Given the description of an element on the screen output the (x, y) to click on. 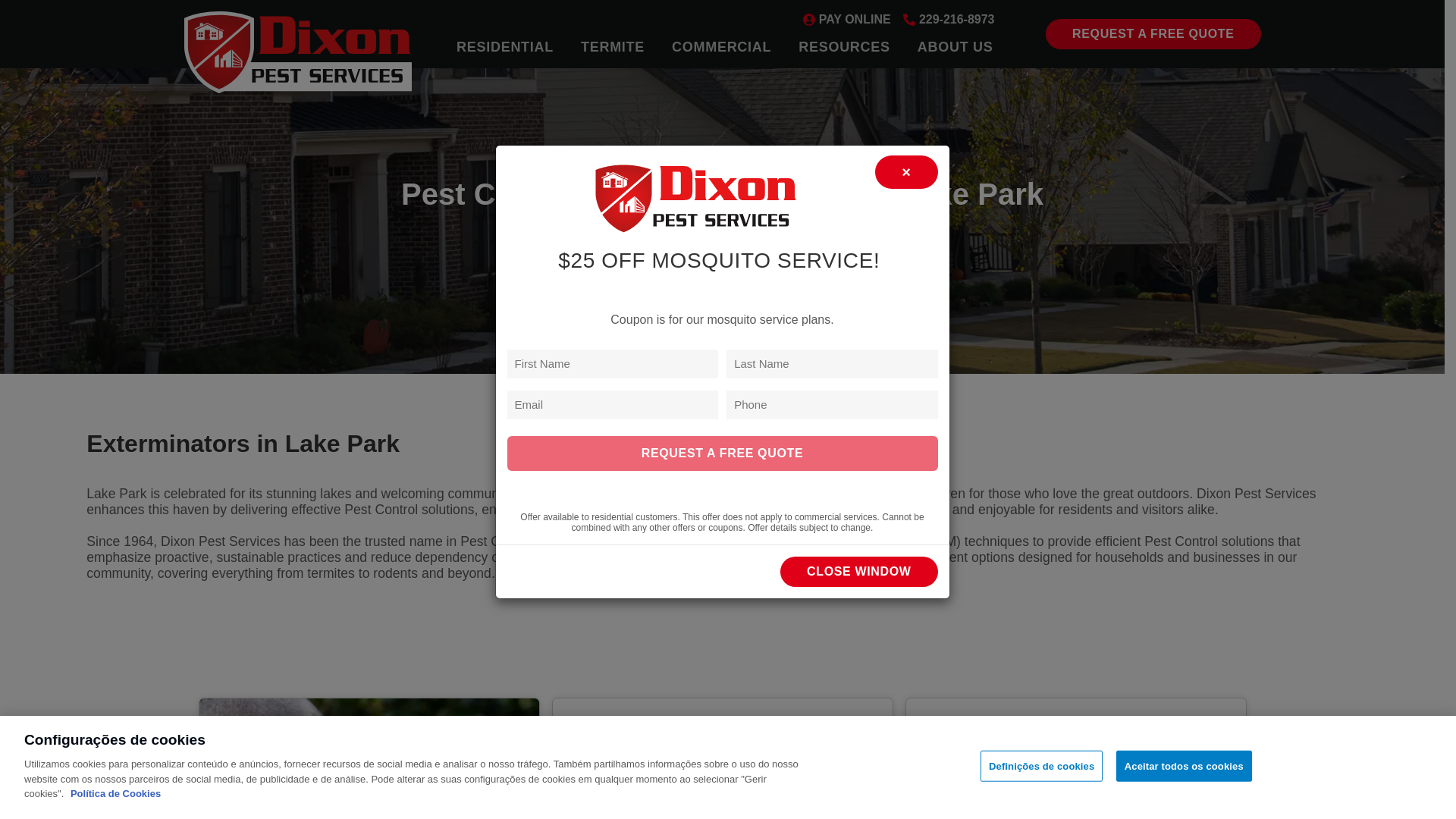
RESOURCES (844, 48)
TERMITE (612, 48)
RESIDENTIAL (504, 48)
REQUEST A FREE QUOTE (1152, 33)
COMMERCIAL (721, 48)
ABOUT US (955, 48)
229-216-8973 (948, 21)
PAY ONLINE (845, 21)
